Given the description of an element on the screen output the (x, y) to click on. 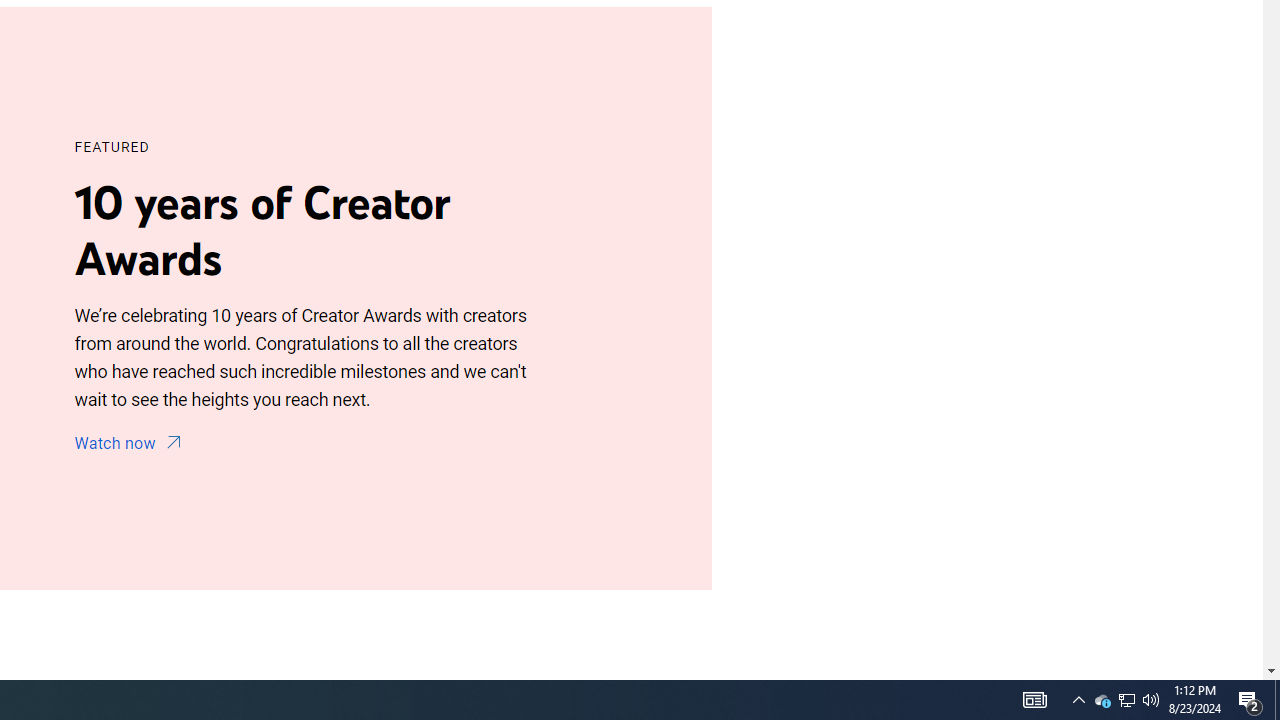
Watch now (131, 444)
